Given the description of an element on the screen output the (x, y) to click on. 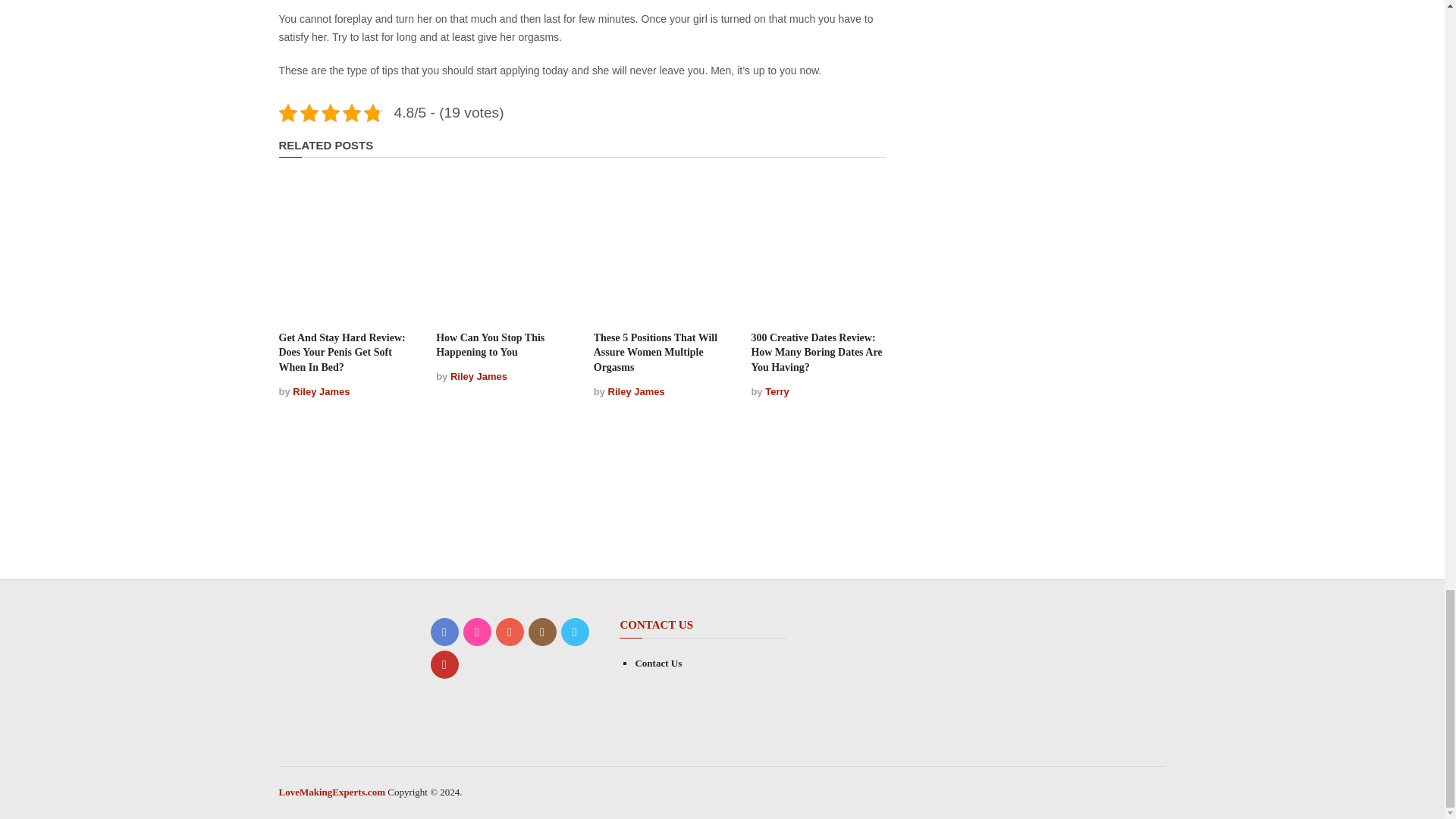
Riley James (320, 391)
Posts by Riley James (636, 391)
These 5 Positions That Will Assure Women Multiple Orgasms (655, 352)
Posts by Riley James (320, 391)
Riley James (636, 391)
How Can You Stop This Happening to You (489, 345)
Terry (777, 391)
